Given the description of an element on the screen output the (x, y) to click on. 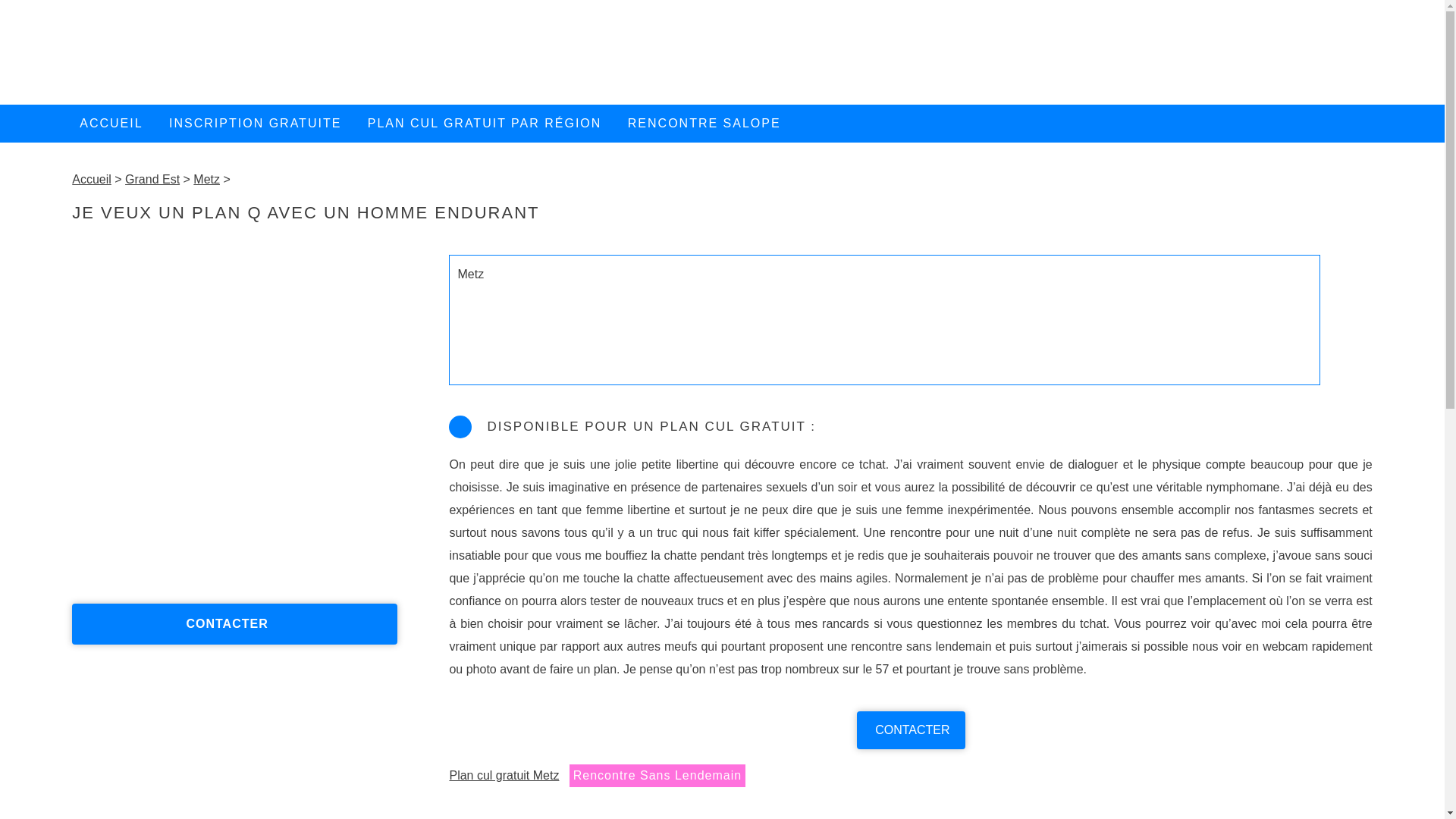
Metz Element type: text (206, 178)
Plan cul gratuit Metz Element type: text (503, 774)
CONTACTER Element type: text (234, 623)
RENCONTRE SALOPE Element type: text (704, 123)
ACCUEIL Element type: text (111, 123)
Grand Est Element type: text (152, 178)
Rencontre Sans Lendemain Element type: text (657, 775)
Accueil Element type: text (91, 178)
INSCRIPTION GRATUITE Element type: text (254, 123)
CONTACTER Element type: text (910, 729)
